Given the description of an element on the screen output the (x, y) to click on. 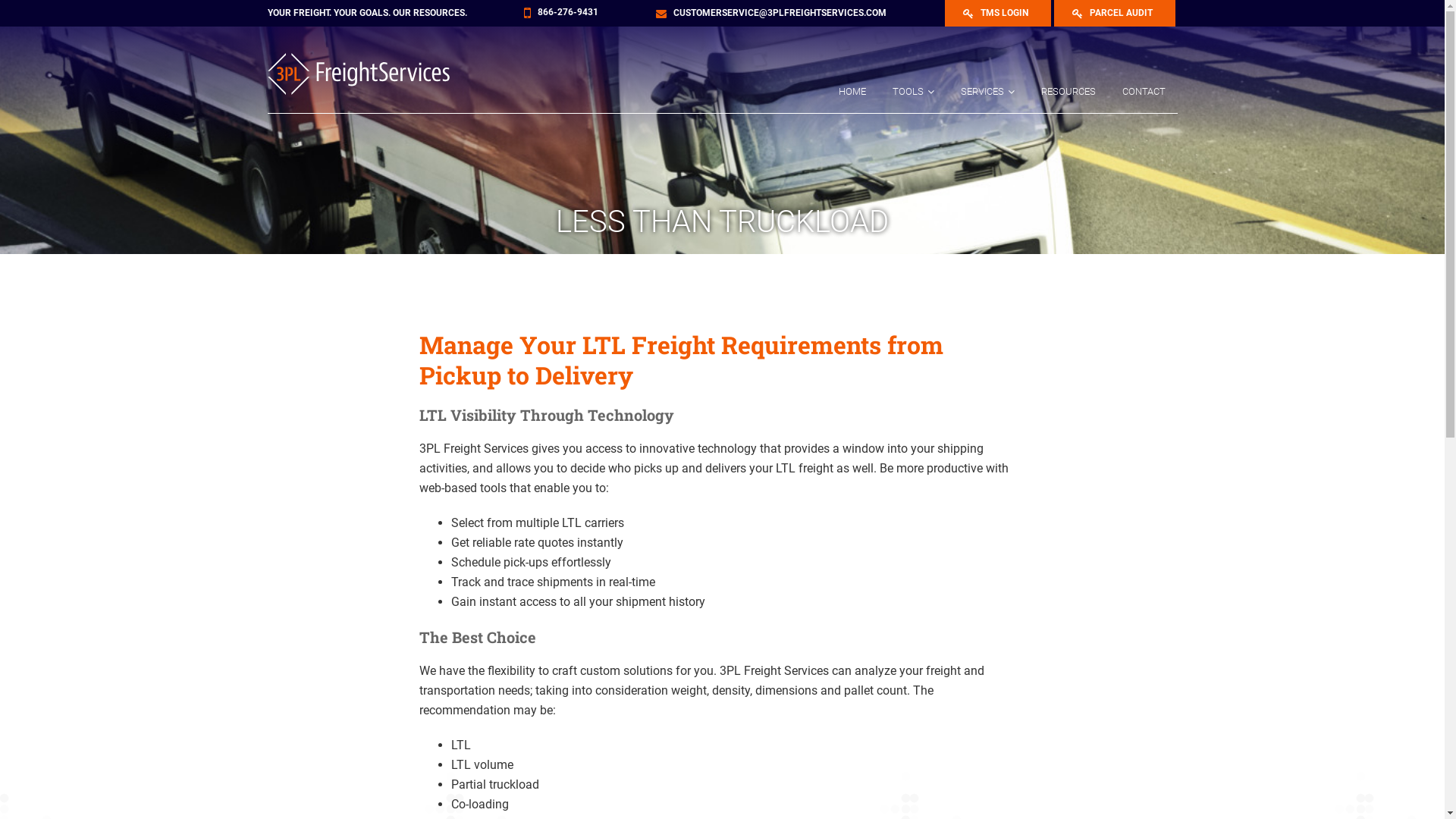
CONTACT Element type: text (1143, 91)
3PL Freight Services Element type: hover (368, 73)
866-276-9431 Element type: text (567, 12)
TOOLS Element type: text (912, 91)
CUSTOMERSERVICE@3PLFREIGHTSERVICES.COM Element type: text (779, 12)
PARCEL AUDIT Element type: text (1114, 13)
TMS LOGIN Element type: text (997, 13)
RESOURCES Element type: text (1067, 91)
SERVICES Element type: text (986, 91)
HOME Element type: text (852, 91)
